Given the description of an element on the screen output the (x, y) to click on. 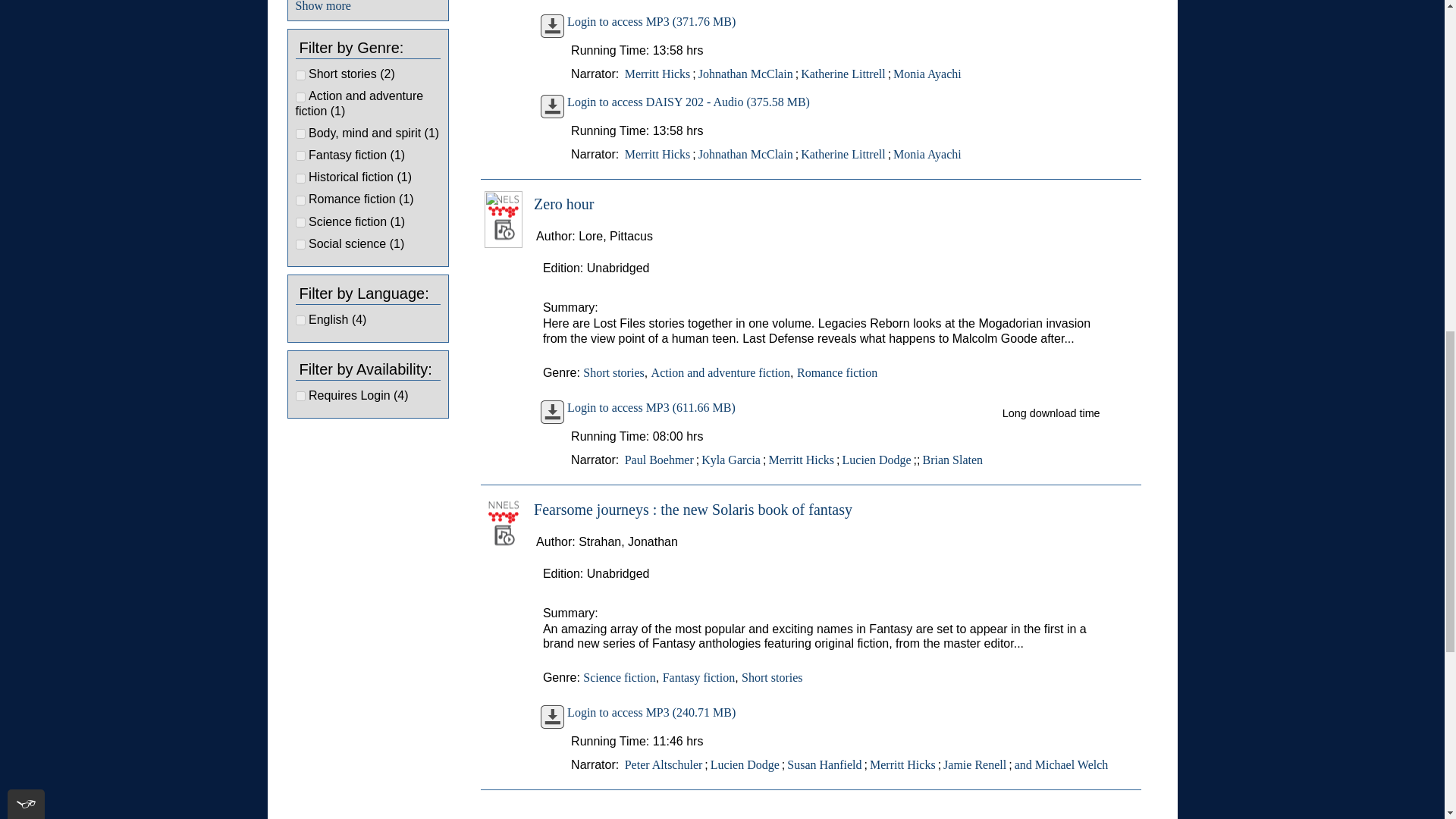
Merritt Hicks (658, 153)
1 (300, 97)
Johnathan McClain (744, 73)
1 (300, 75)
Show more (322, 6)
1 (300, 155)
Monia Ayachi (927, 73)
Merritt Hicks (658, 73)
1 (300, 133)
Katherine Littrell (842, 73)
